Given the description of an element on the screen output the (x, y) to click on. 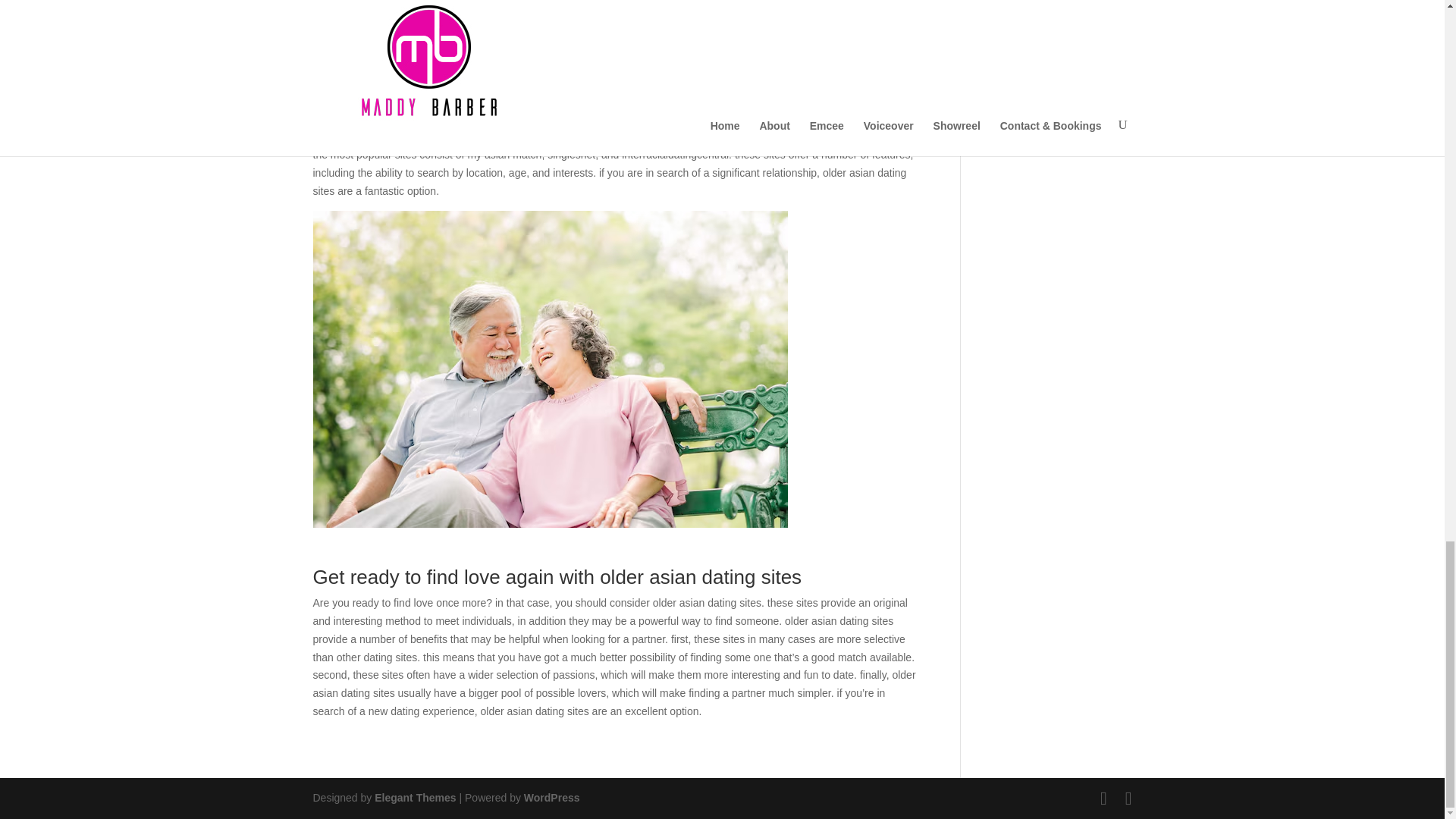
WordPress (551, 797)
older asian dating (354, 82)
Elegant Themes (414, 797)
Premium WordPress Themes (414, 797)
